Given the description of an element on the screen output the (x, y) to click on. 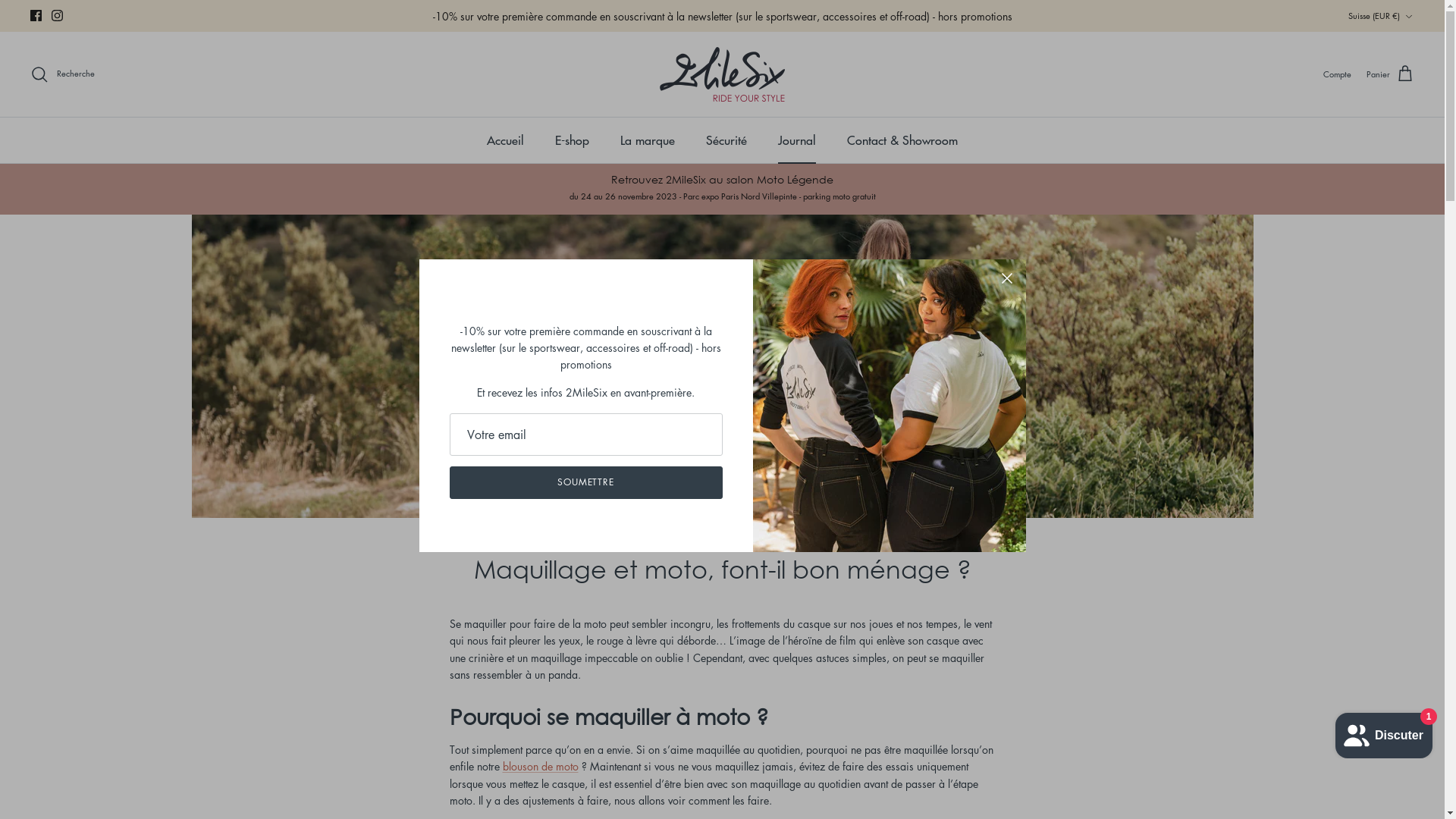
Instagram Element type: text (56, 15)
Compte Element type: text (1337, 74)
E-shop Element type: text (571, 140)
Contact & Showroom Element type: text (902, 140)
blouson de moto Element type: text (539, 765)
Recherche Element type: text (62, 74)
mutuelle des motards Element type: text (649, 15)
Facebook Element type: text (35, 15)
2MileSix Element type: hover (721, 74)
Journal Element type: text (796, 140)
Chat de la boutique en ligne Shopify Element type: hover (1383, 732)
La marque Element type: text (647, 140)
Panier Element type: text (1390, 74)
SOUMETTRE Element type: text (584, 482)
Accueil Element type: text (505, 140)
